Given the description of an element on the screen output the (x, y) to click on. 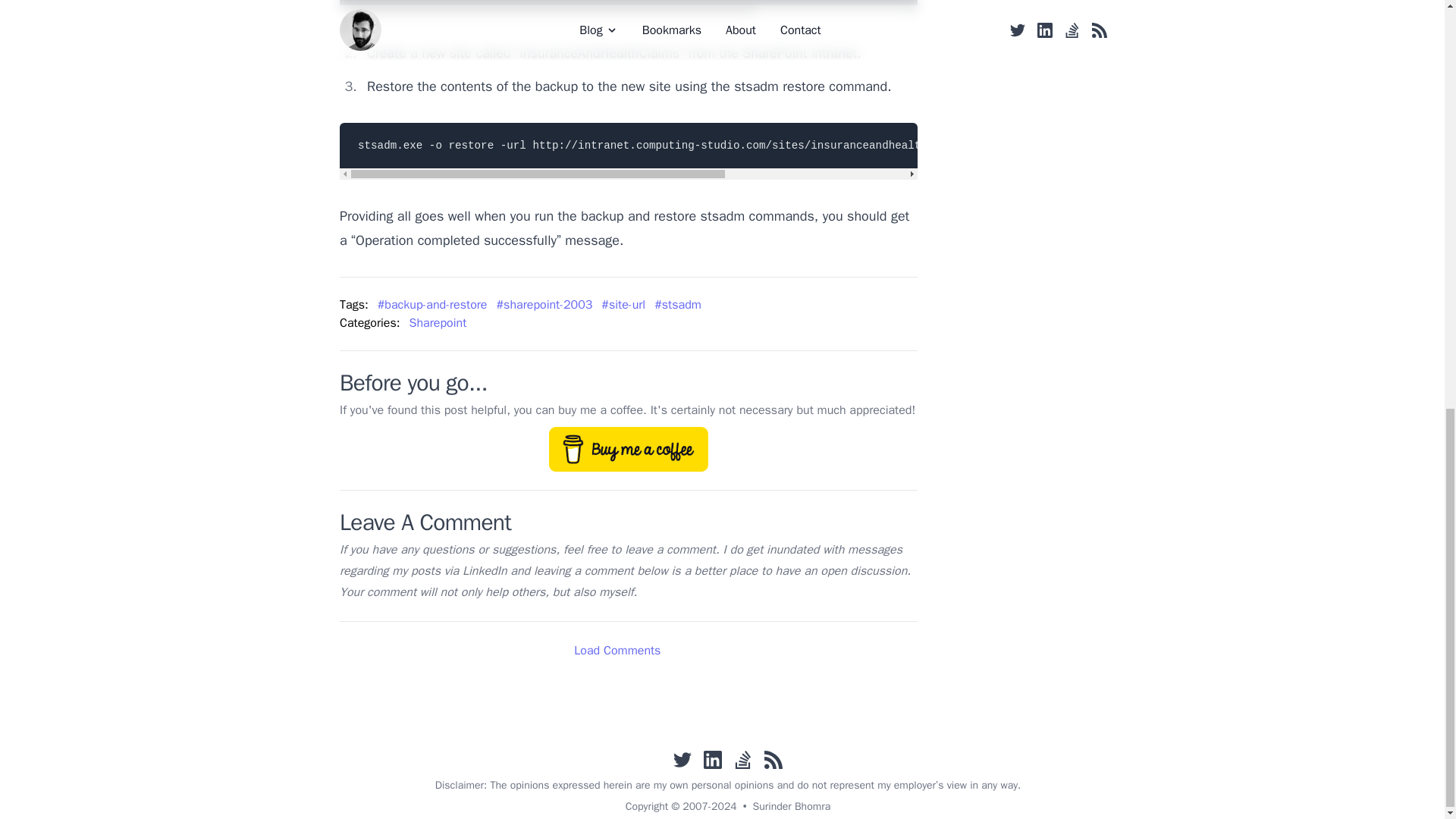
Sharepoint (442, 322)
Load Comments (627, 649)
twitter (681, 760)
linkedin (712, 760)
rss (773, 760)
stackoverflow (742, 760)
